Given the description of an element on the screen output the (x, y) to click on. 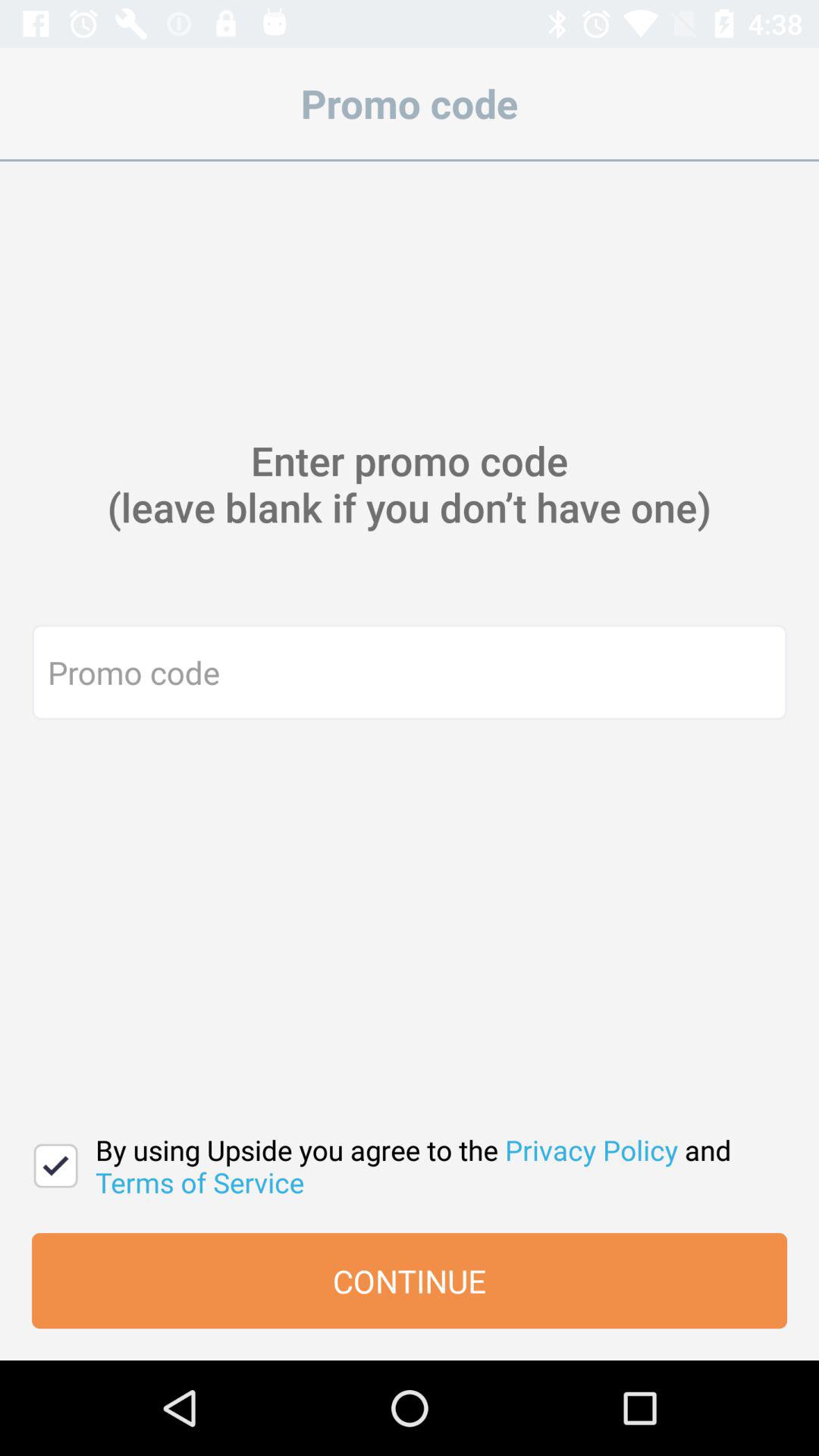
choose continue item (409, 1280)
